Given the description of an element on the screen output the (x, y) to click on. 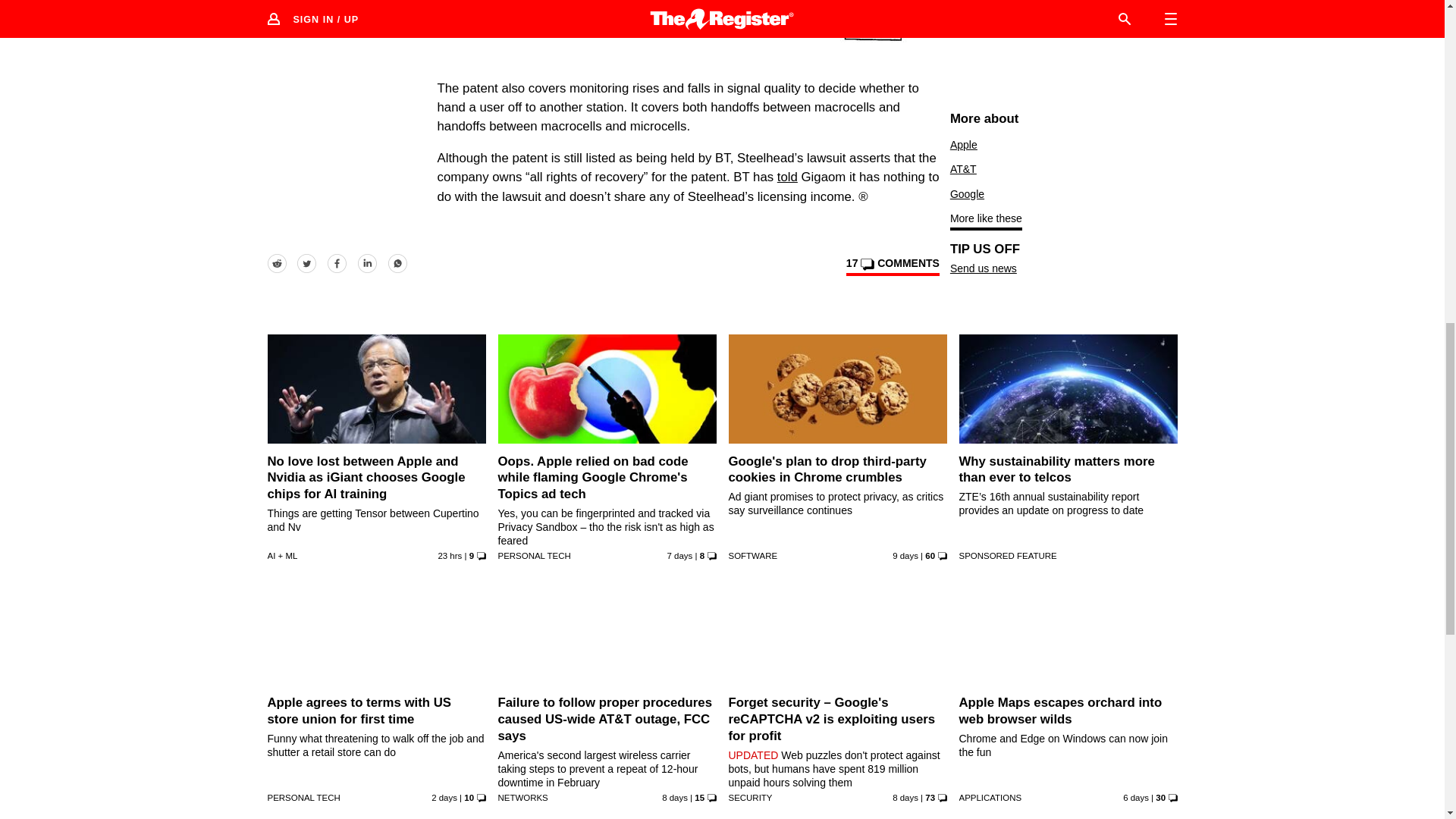
30 Jul 2024 22:7 (449, 555)
24 Jul 2024 6:33 (905, 797)
24 Jul 2024 20:44 (679, 555)
30 Jul 2024 0:1 (443, 797)
23 Jul 2024 13:45 (674, 797)
View comments on this article (892, 266)
25 Jul 2024 15:34 (1135, 797)
23 Jul 2024 0:3 (905, 555)
